Given the description of an element on the screen output the (x, y) to click on. 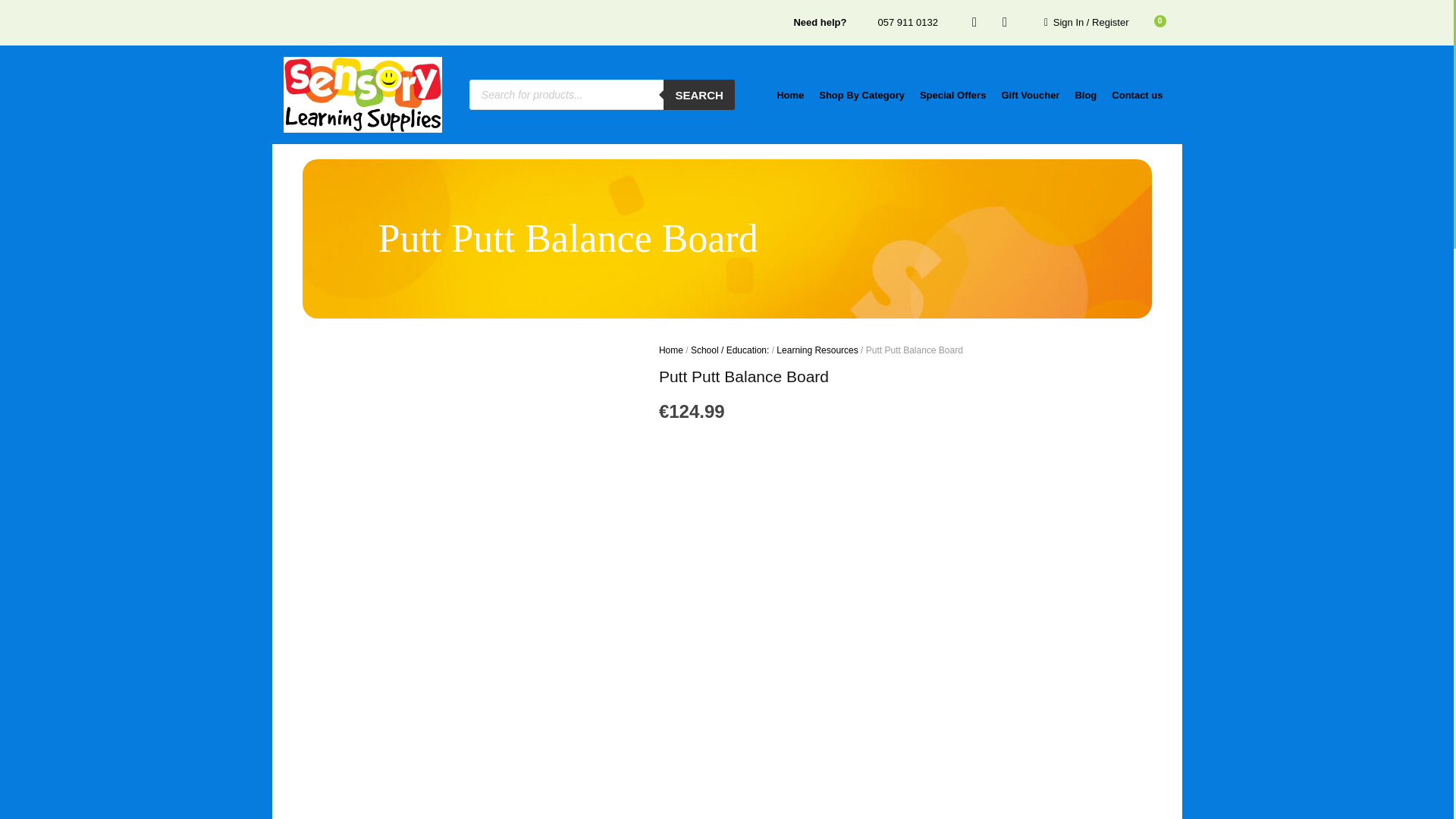
057 911 0132 (891, 22)
Home (789, 94)
SEARCH (698, 94)
Special Offers (952, 94)
0 (1149, 23)
Shop By Category (861, 94)
